Given the description of an element on the screen output the (x, y) to click on. 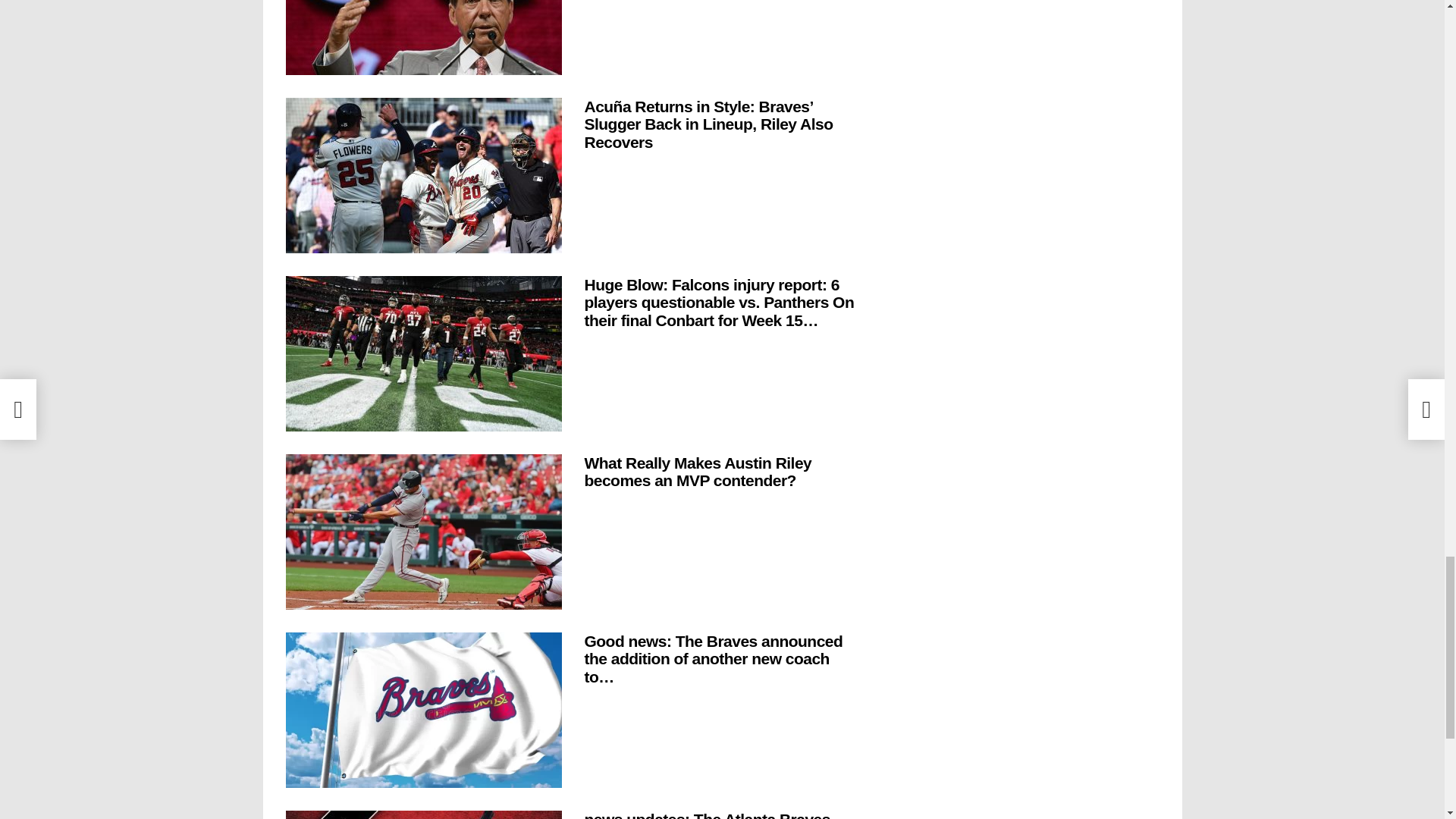
What Really Makes Austin Riley becomes an MVP contender? (422, 531)
